Given the description of an element on the screen output the (x, y) to click on. 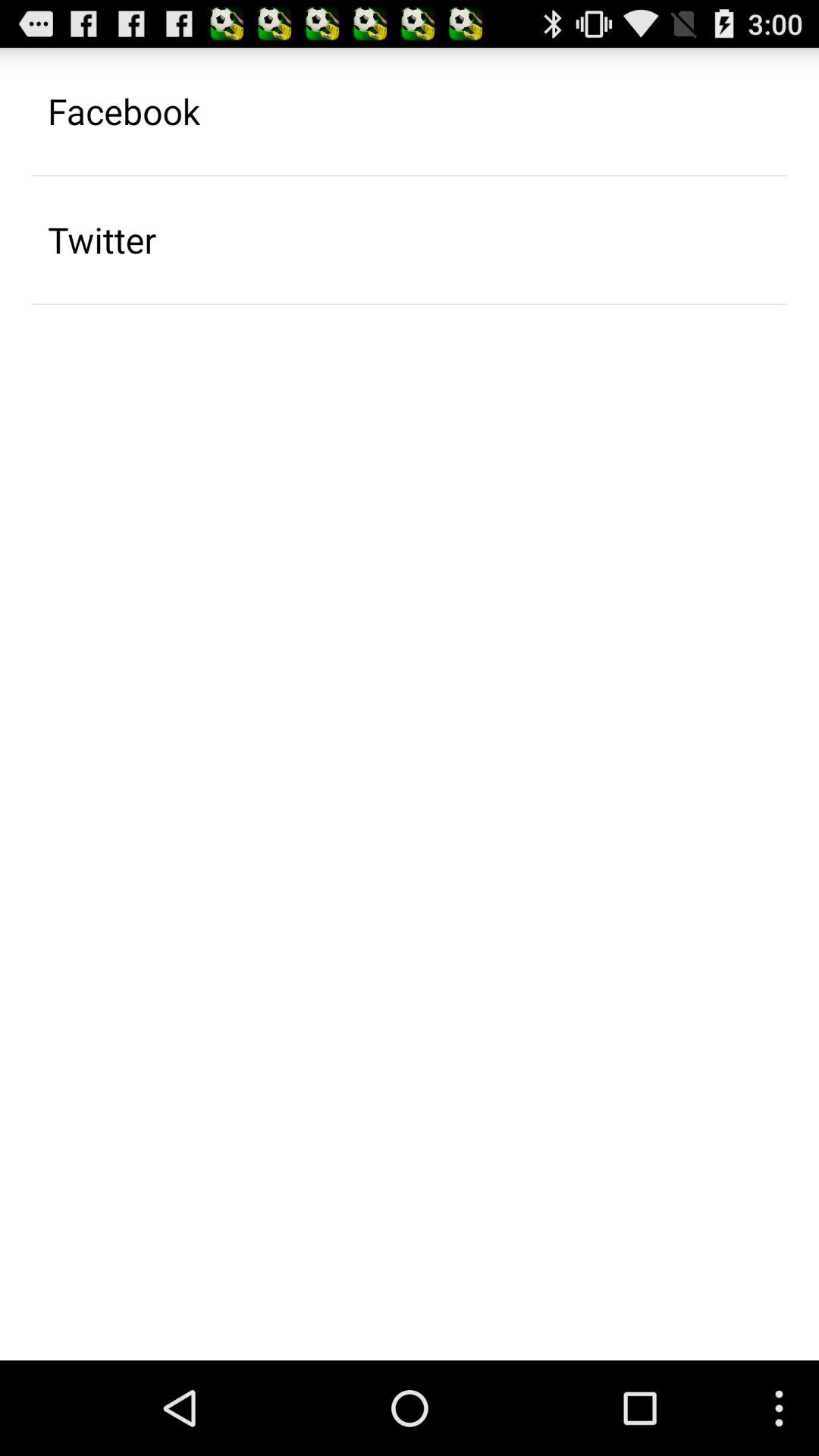
swipe to the facebook icon (123, 111)
